Given the description of an element on the screen output the (x, y) to click on. 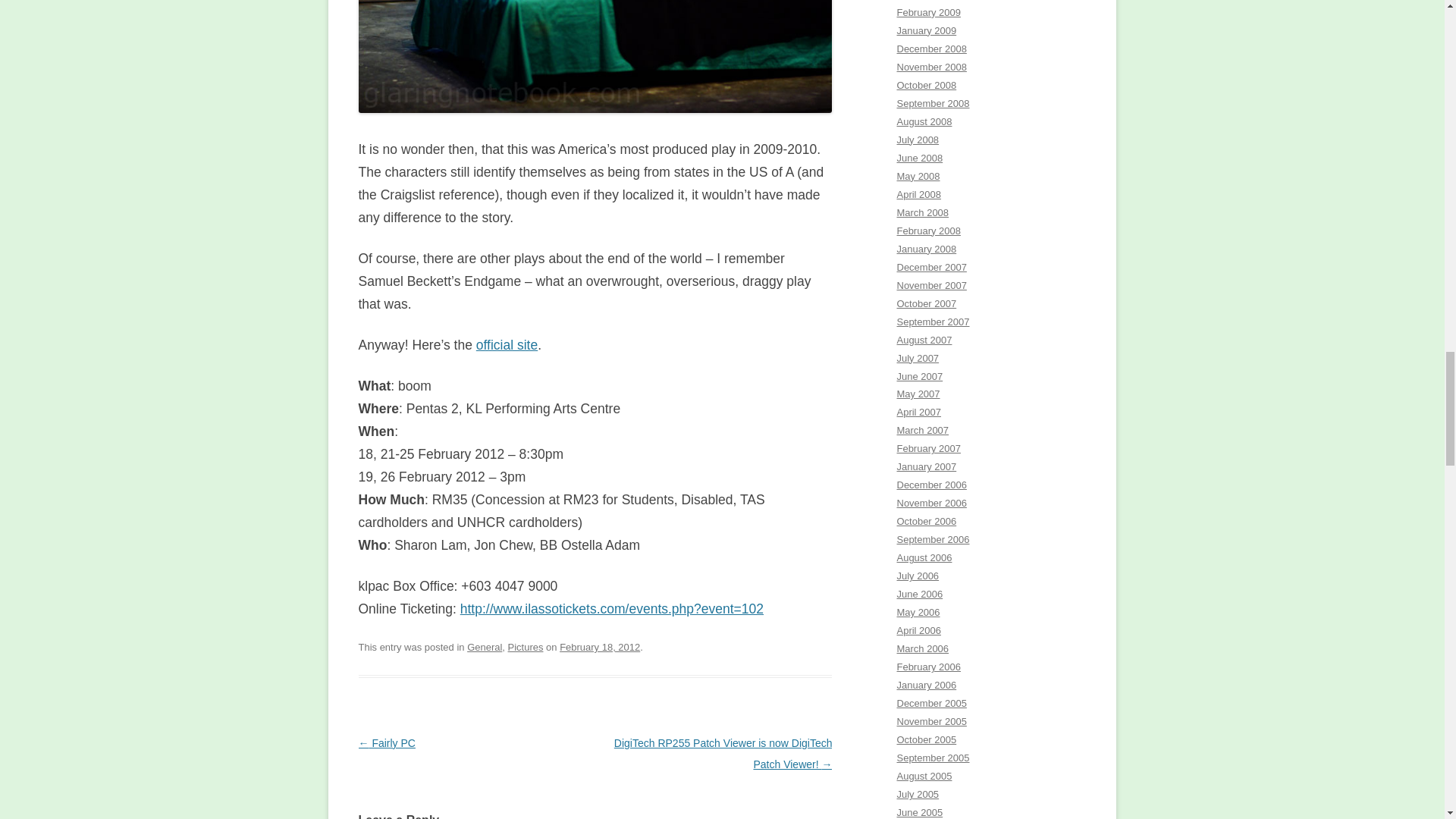
General (484, 646)
official site (506, 344)
Pictures (525, 646)
3:33 am (599, 646)
February 18, 2012 (599, 646)
